Given the description of an element on the screen output the (x, y) to click on. 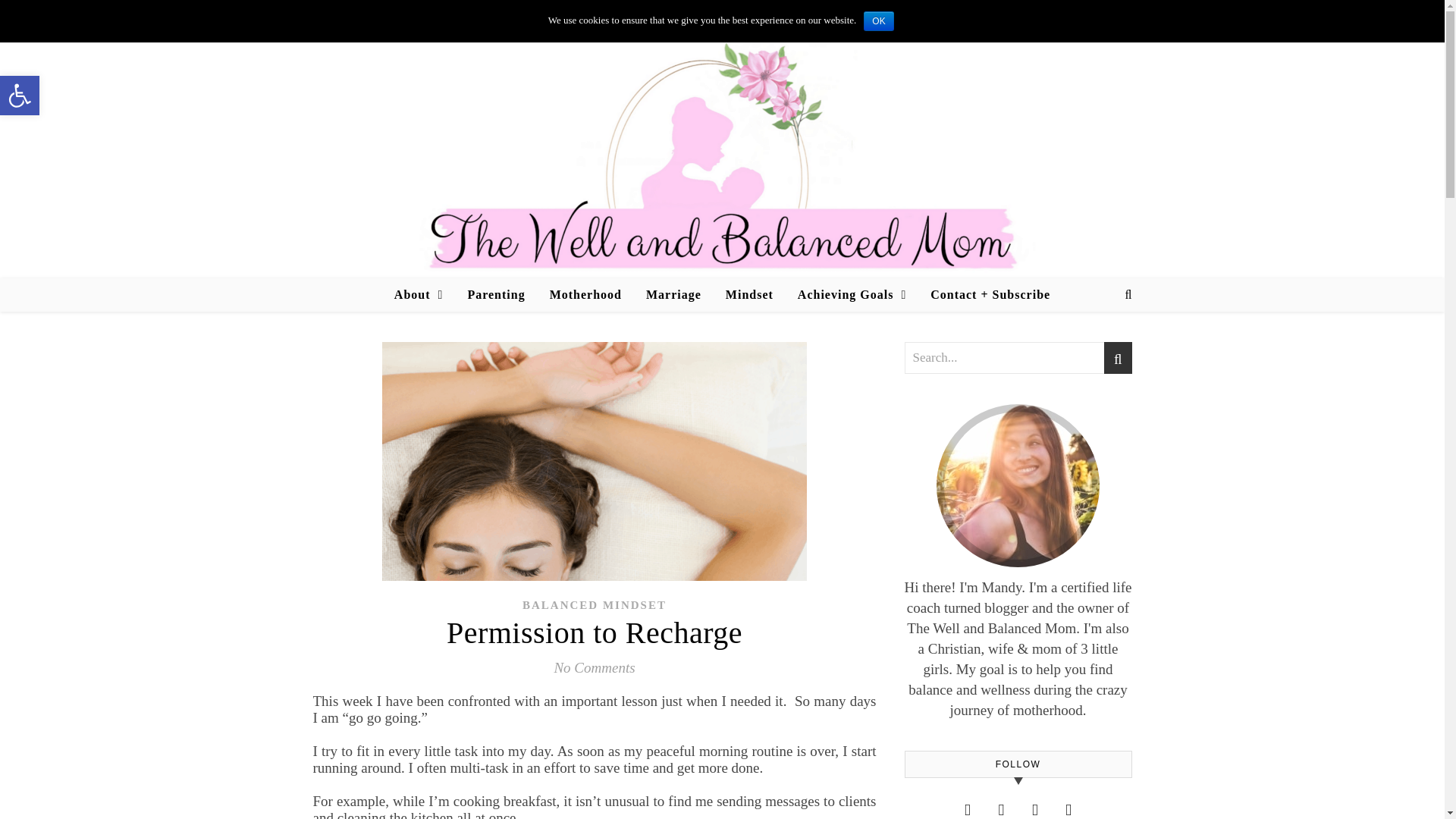
Open toolbar (19, 95)
Accessibility Tools (19, 95)
Achieving Goals (852, 295)
Mindset (749, 295)
Parenting (495, 295)
Motherhood (585, 295)
Marriage (673, 295)
BALANCED MINDSET (594, 604)
About (424, 295)
No Comments (593, 667)
